Given the description of an element on the screen output the (x, y) to click on. 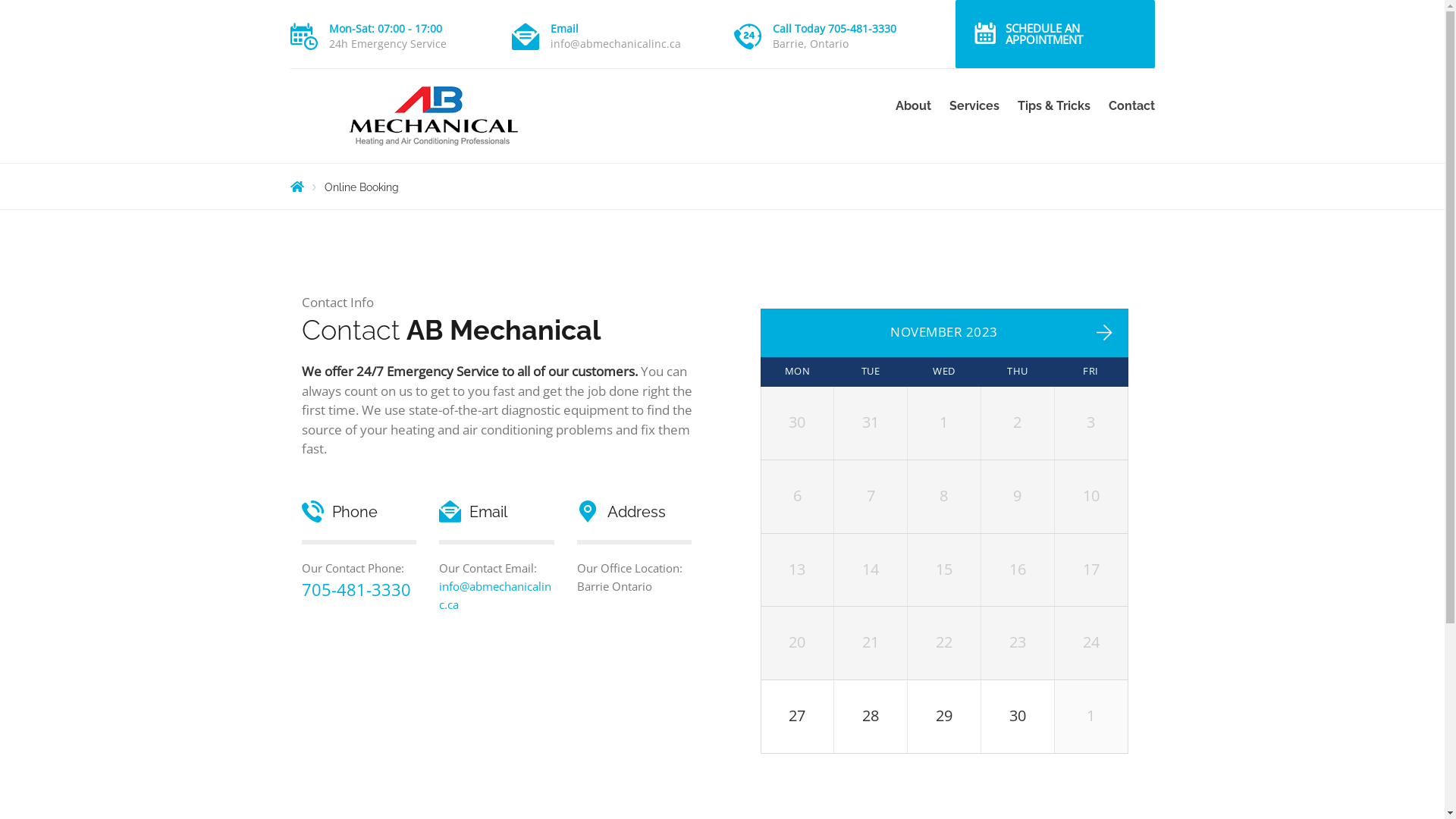
Contact Element type: text (1126, 105)
Services Element type: text (974, 105)
info@abmechanicalinc.ca Element type: text (495, 594)
SCHEDULE AN APPOINTMENT Element type: text (1054, 34)
Email Element type: text (564, 28)
Tips & Tricks Element type: text (1053, 105)
AB Mechanical logo Element type: hover (431, 115)
About Element type: text (912, 105)
